Given the description of an element on the screen output the (x, y) to click on. 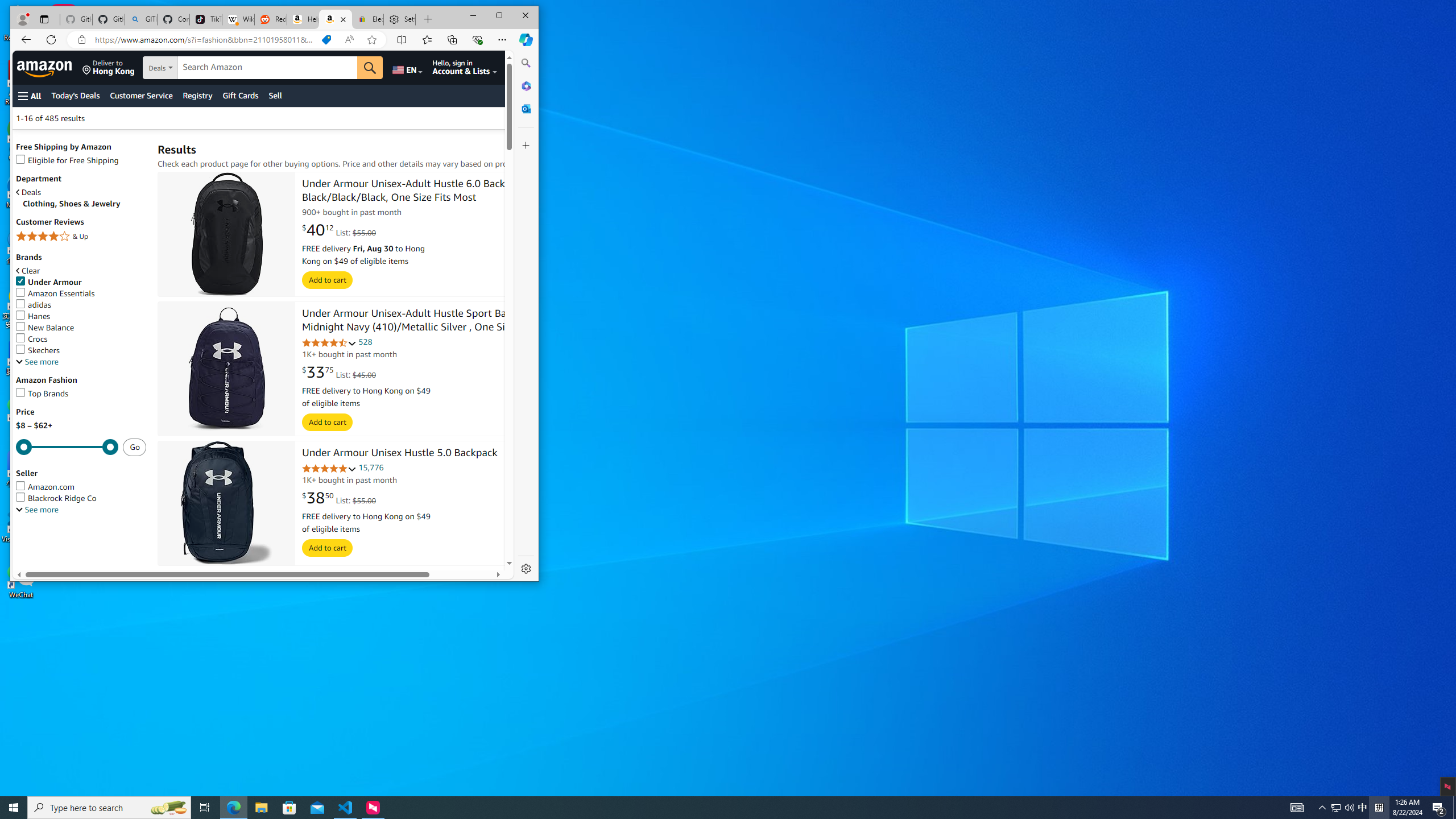
Type here to search (108, 807)
4.7 out of 5 stars (328, 342)
$40.12 List: $55.00 (339, 230)
GITHUB - Search (140, 19)
4 Stars & Up& Up (80, 237)
4 Stars & Up (80, 237)
Action Center, 2 new notifications (1439, 807)
